Given the description of an element on the screen output the (x, y) to click on. 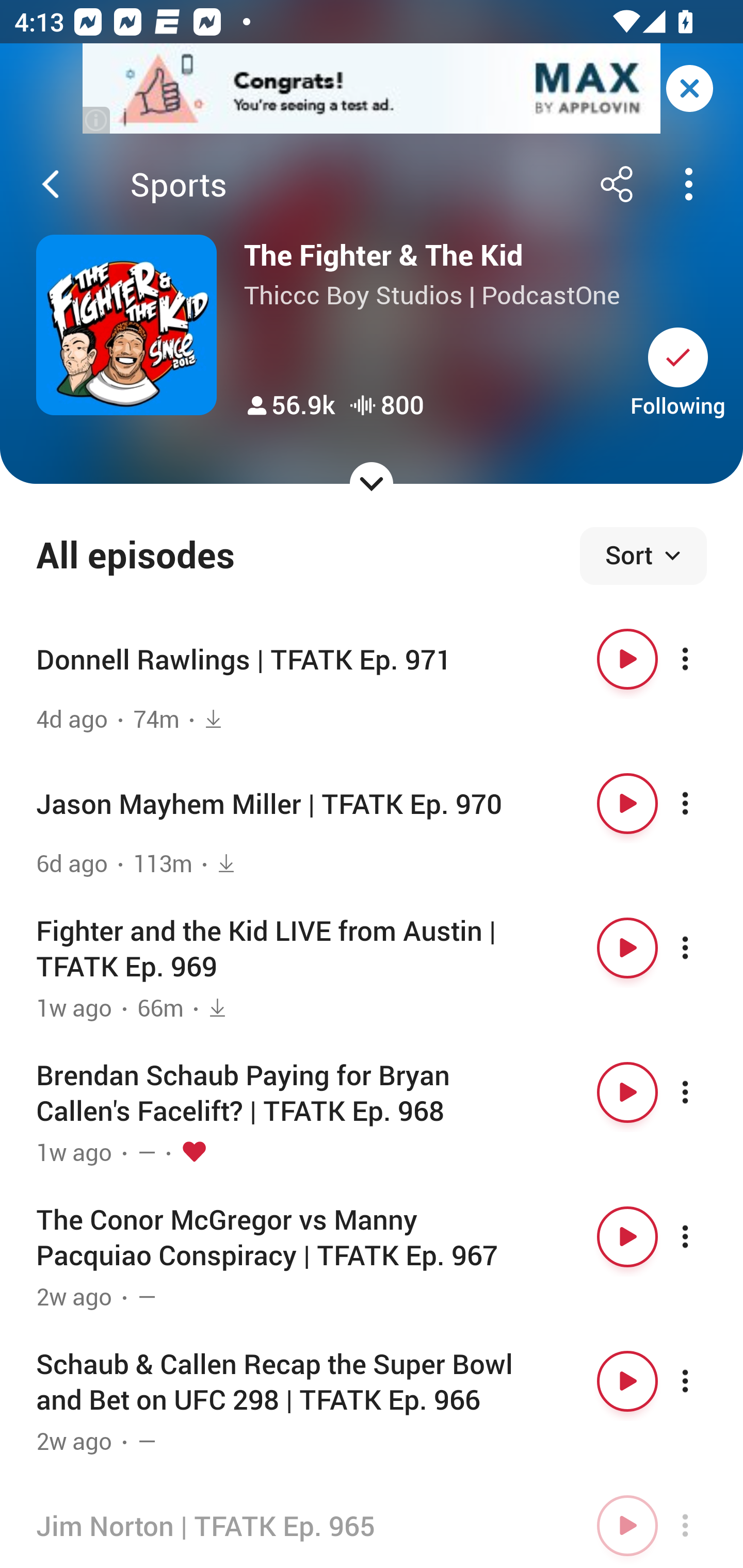
app-monetization (371, 88)
(i) (96, 119)
Back (50, 184)
Unsubscribe button (677, 357)
Sort episodes Sort (643, 555)
Play button (627, 659)
More options (703, 659)
Play button (627, 803)
More options (703, 803)
Play button (627, 947)
More options (703, 947)
Play button (627, 1092)
More options (703, 1092)
Play button (627, 1236)
More options (703, 1236)
Play button (627, 1381)
More options (703, 1381)
Play button (627, 1525)
More options (703, 1525)
